Given the description of an element on the screen output the (x, y) to click on. 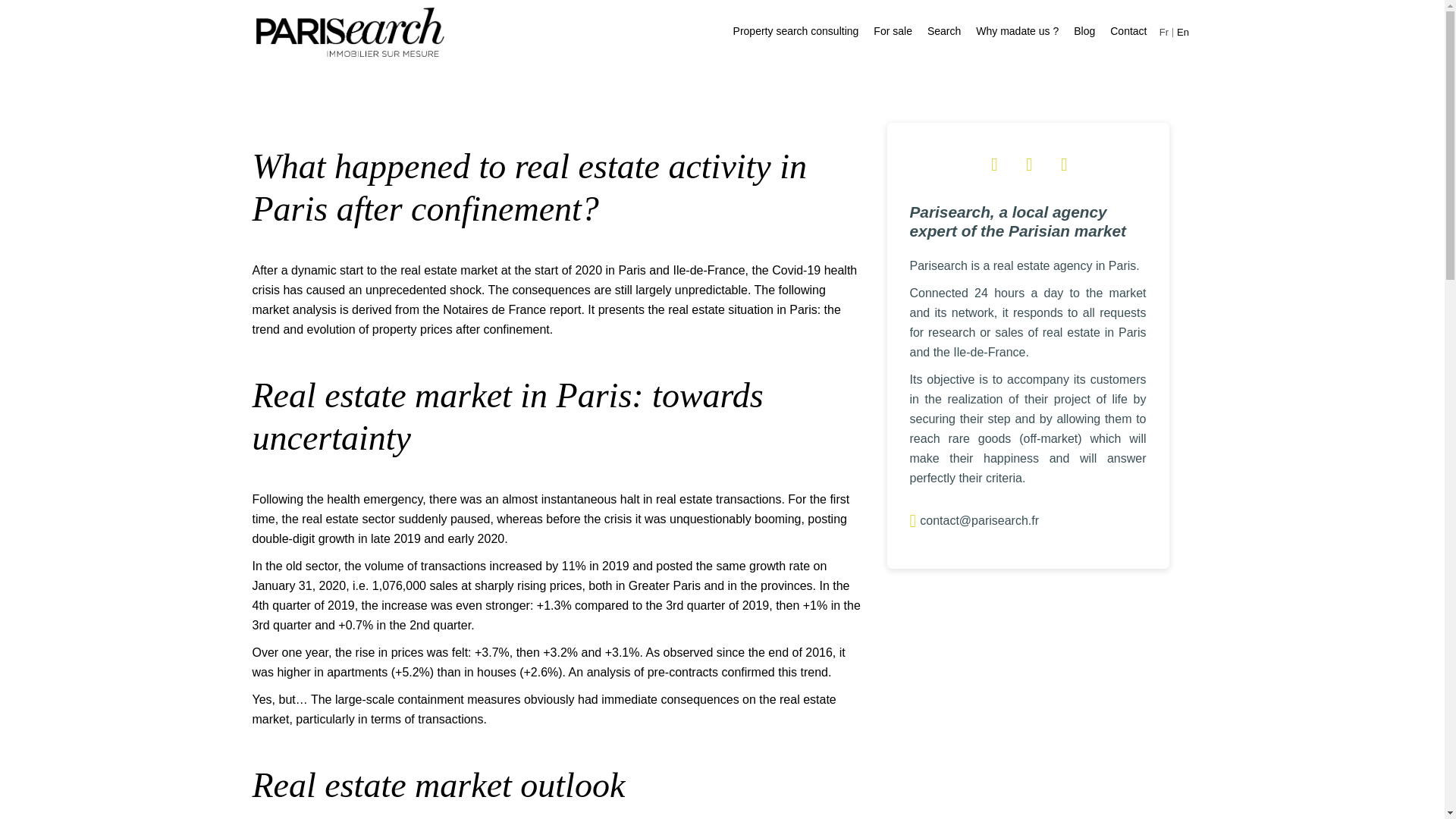
En (1182, 31)
Blog (1084, 30)
Property search consulting (796, 30)
Why madate us ? (1016, 30)
Search (943, 30)
Contact (1128, 30)
Fr (1163, 31)
For sale (892, 30)
